Given the description of an element on the screen output the (x, y) to click on. 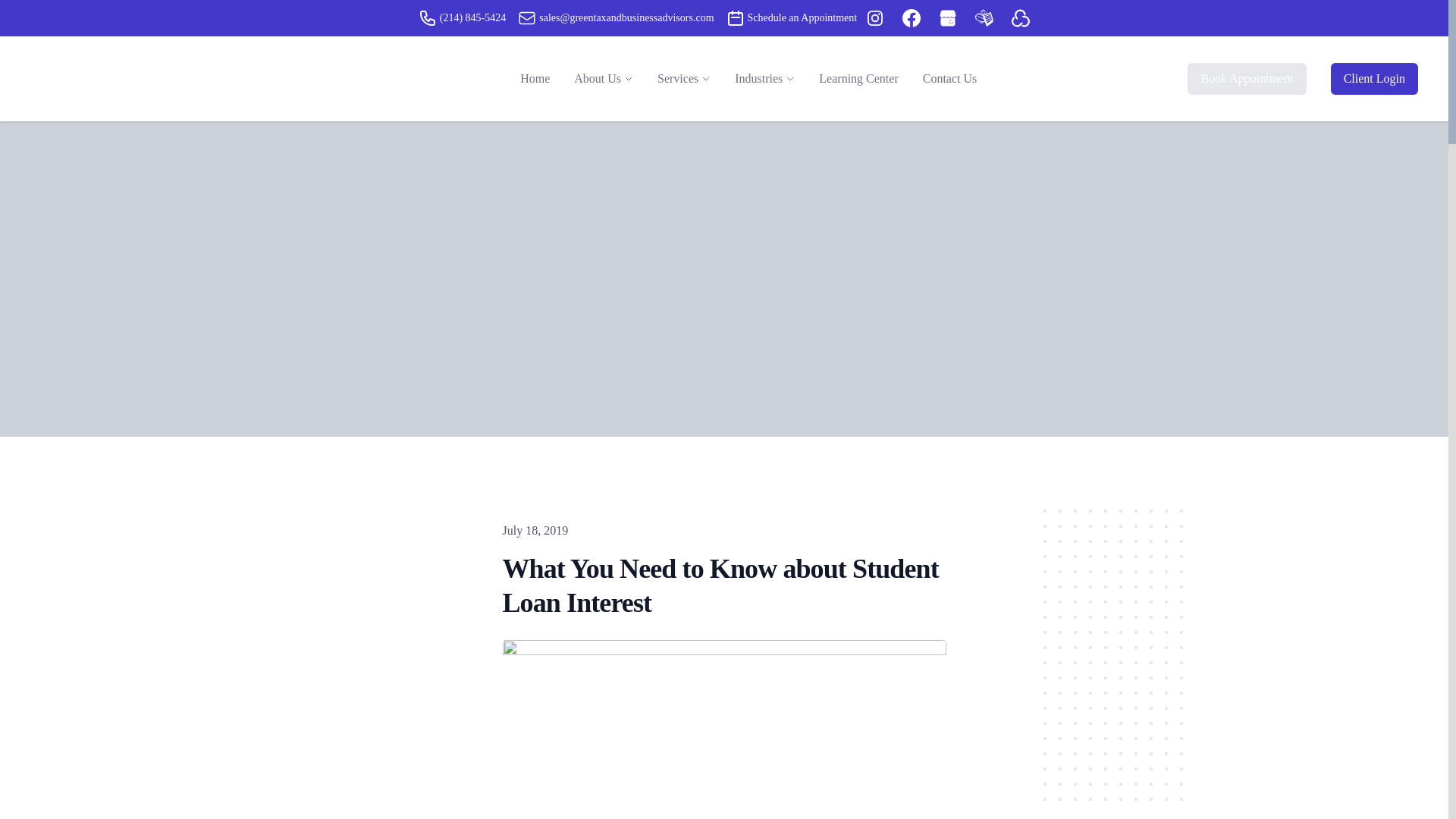
Instagram (874, 18)
Services (678, 78)
phone (427, 18)
CountingWorks (1020, 18)
Learning Center (858, 78)
About Us (597, 78)
Home (535, 78)
Contact Us (950, 78)
Green Tax and Business Advisors (169, 78)
Schedule an Appointment (791, 18)
Schedule an Appointment (735, 18)
Home (535, 78)
Client Login (1374, 79)
Taxbuzz (983, 18)
Facebooj (911, 18)
